Given the description of an element on the screen output the (x, y) to click on. 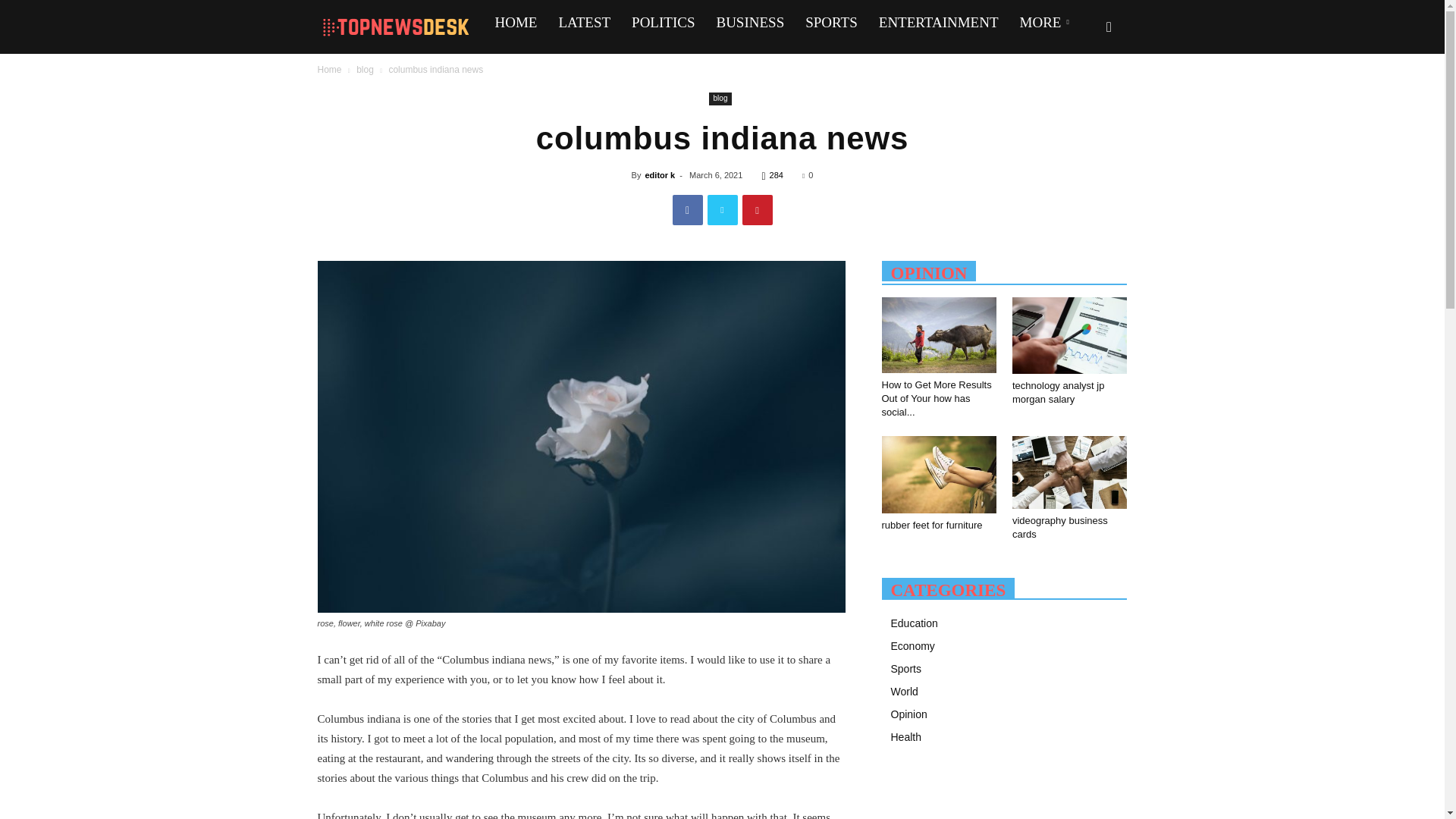
topnewsdesk (392, 25)
editor k (660, 174)
ENTERTAINMENT (938, 22)
HOME (515, 22)
technology analyst jp morgan salary (1068, 335)
LATEST (584, 22)
MORE (1046, 22)
Top News Desk (400, 24)
blog (365, 69)
